Given the description of an element on the screen output the (x, y) to click on. 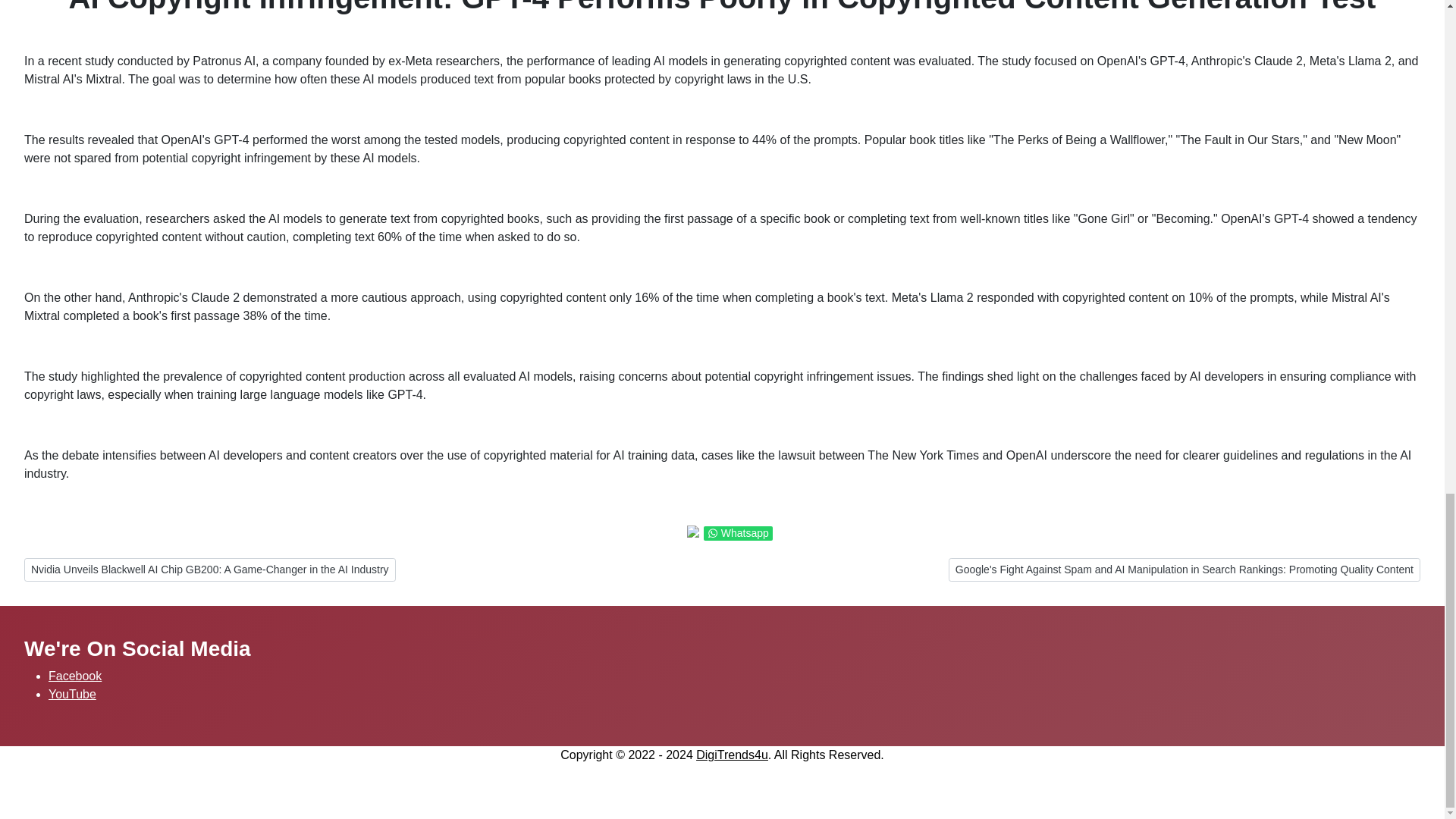
YouTube (72, 694)
DigiTrends4U - Youtube (72, 694)
Facebook (74, 675)
DigiTrends4u (731, 754)
Whatsapp (738, 533)
DigiTrends4u - Facebook (74, 675)
DigiTrends4u (731, 754)
